Given the description of an element on the screen output the (x, y) to click on. 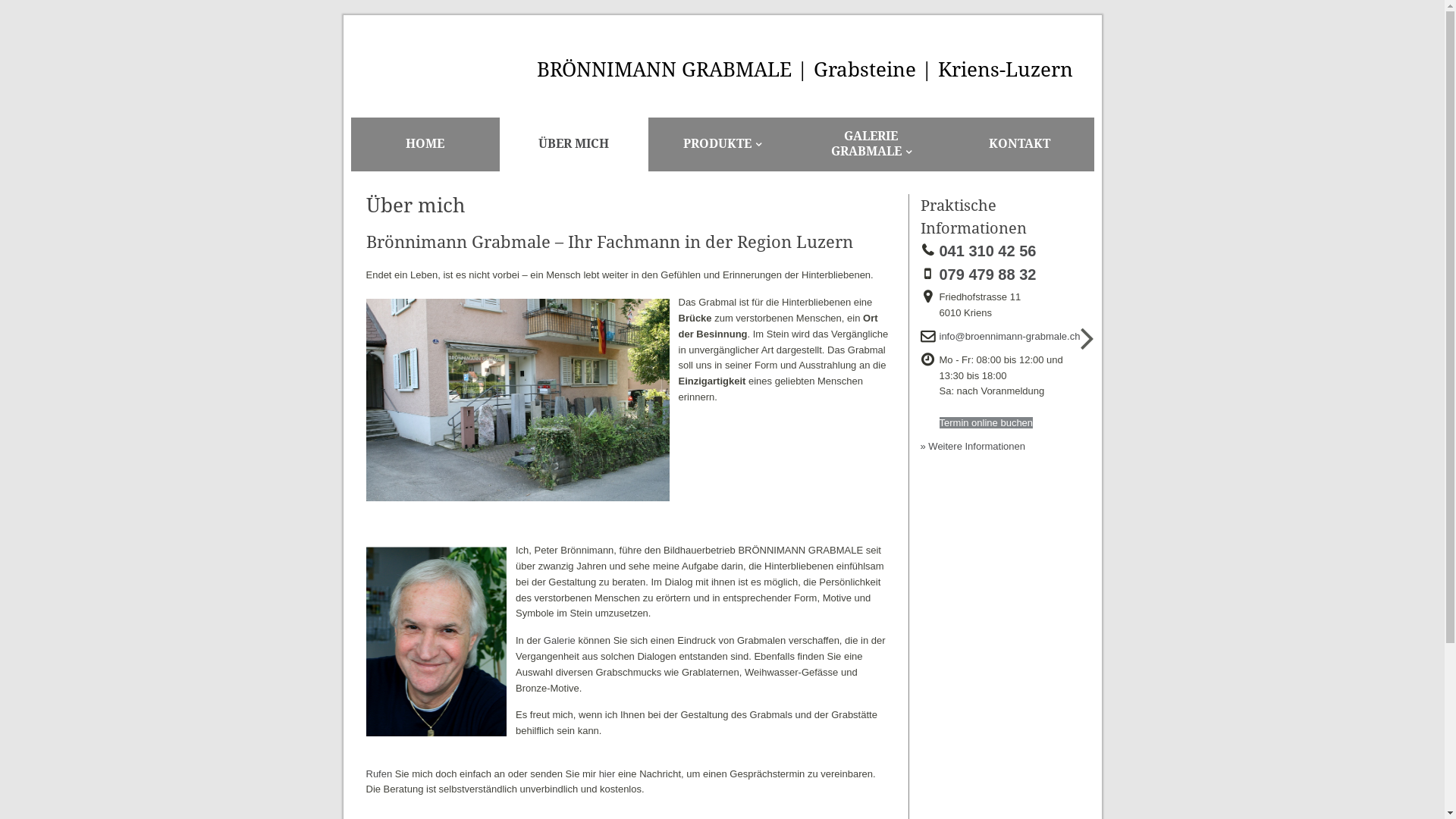
KONTAKT Element type: text (1018, 144)
hier Element type: text (607, 773)
Galerie Element type: text (559, 640)
HOME Element type: text (424, 144)
079 479 88 32 Element type: text (991, 274)
GALERIE GRABMALE Element type: text (870, 144)
Termin online buchen Element type: text (985, 422)
Rufen Element type: text (378, 773)
info@broennimann-grabmale.ch Element type: text (1013, 337)
PRODUKTE Element type: text (721, 144)
041 310 42 56 Element type: text (991, 251)
